Given the description of an element on the screen output the (x, y) to click on. 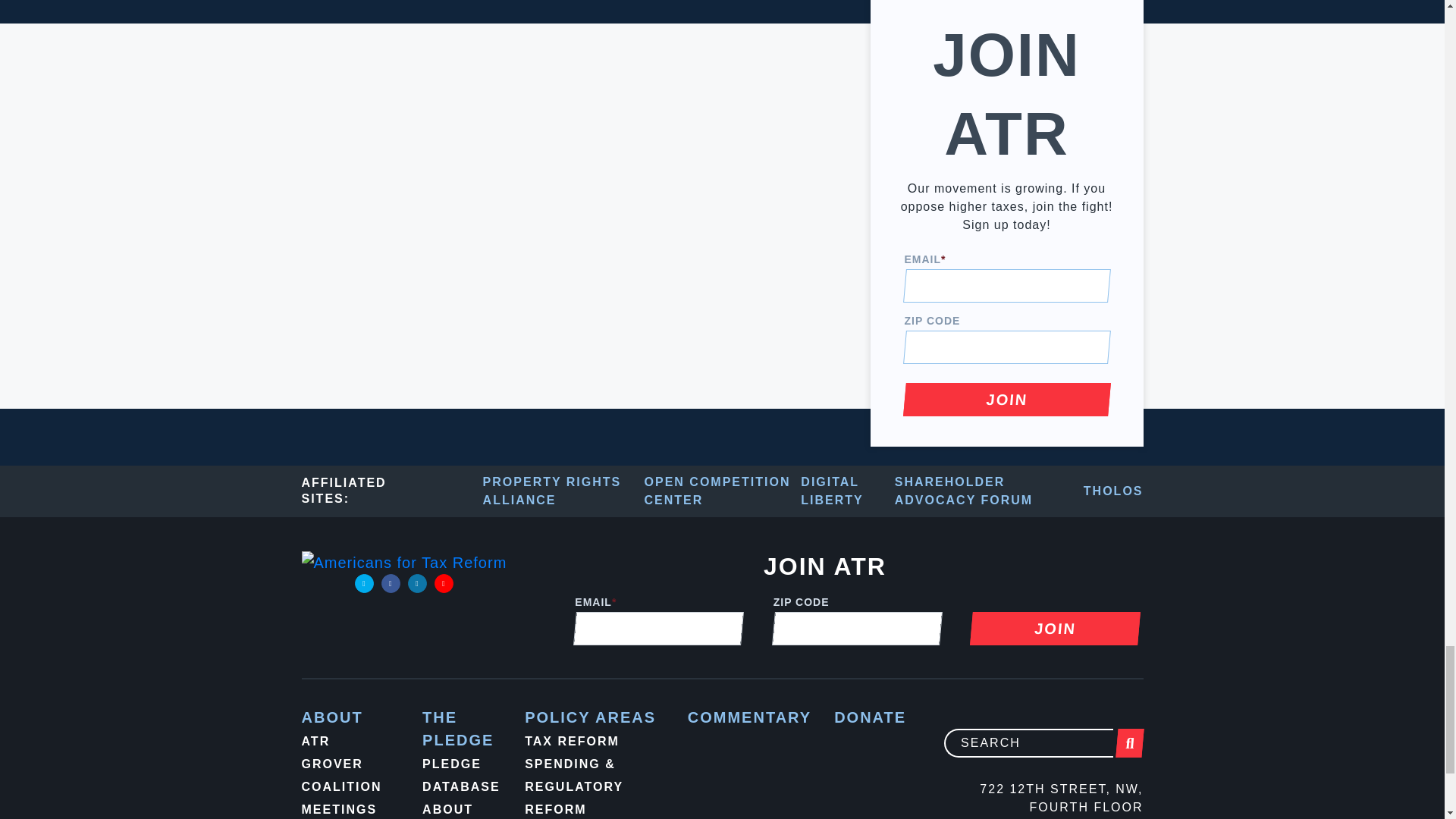
Join (1053, 628)
Join (1005, 399)
